Given the description of an element on the screen output the (x, y) to click on. 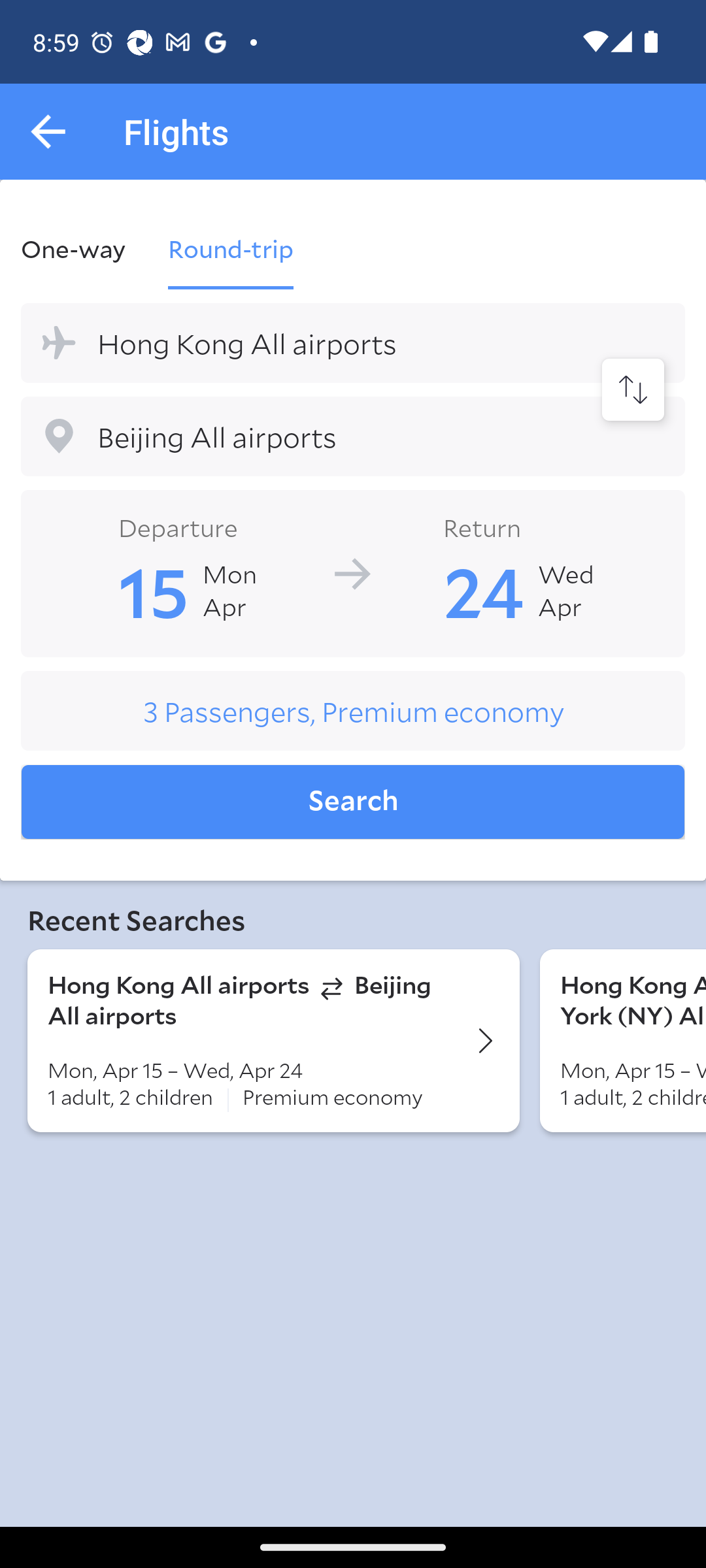
One-way (83, 248)
Hong Kong All airports (352, 342)
Beijing All airports (352, 436)
Departure 15 Mon Apr Return 24 Wed Apr (352, 572)
3 Passengers, Premium economy (352, 711)
Search  Search (352, 801)
